Given the description of an element on the screen output the (x, y) to click on. 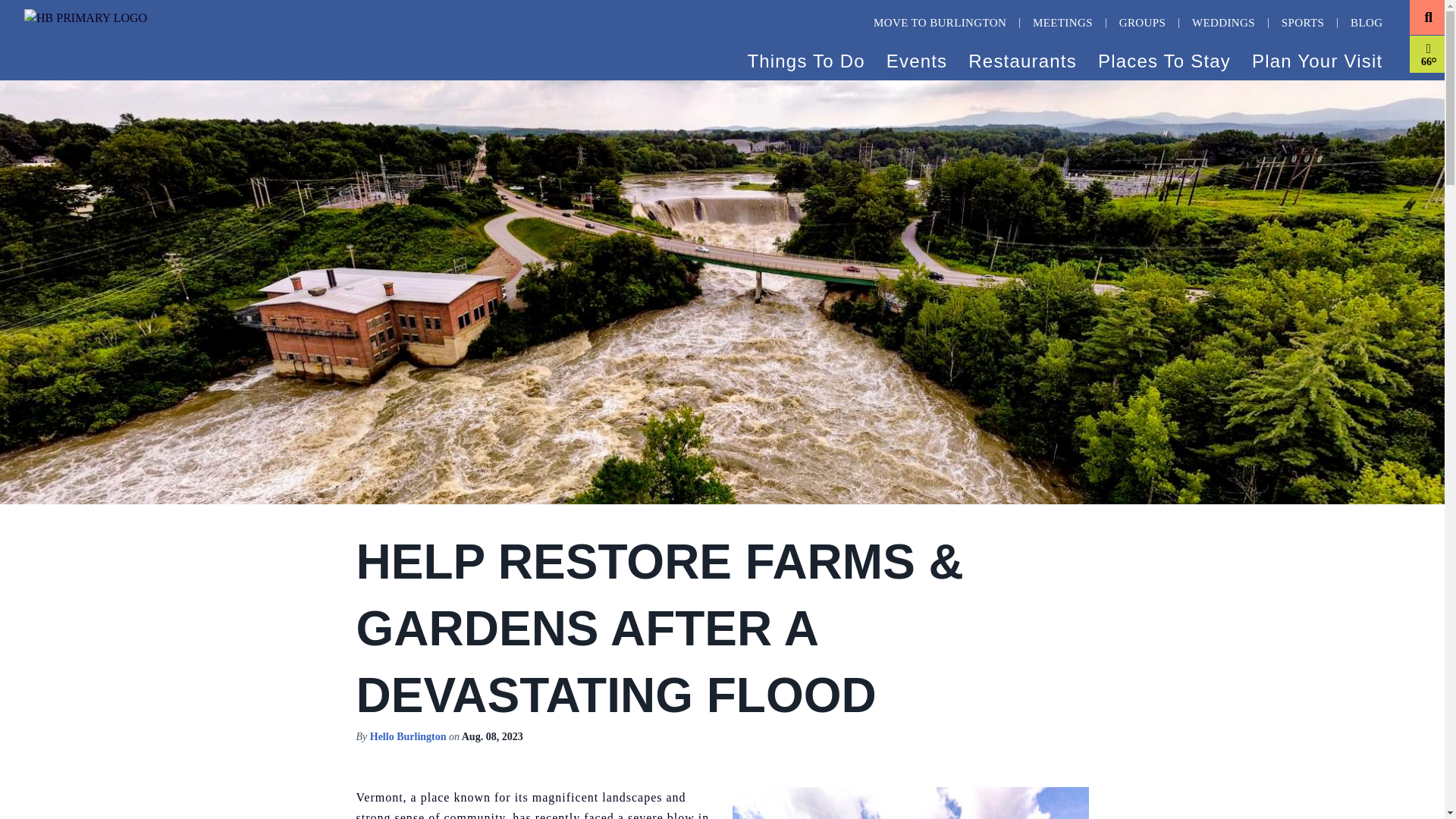
GROUPS (1141, 22)
Restaurants (1024, 58)
Places To Stay (1166, 58)
BLOG (1366, 22)
WEDDINGS (1222, 22)
Plan Your Visit (1318, 58)
SPORTS (1302, 22)
MOVE TO BURLINGTON (939, 22)
Events (918, 58)
Things To Do (807, 58)
MEETINGS (1062, 22)
